Given the description of an element on the screen output the (x, y) to click on. 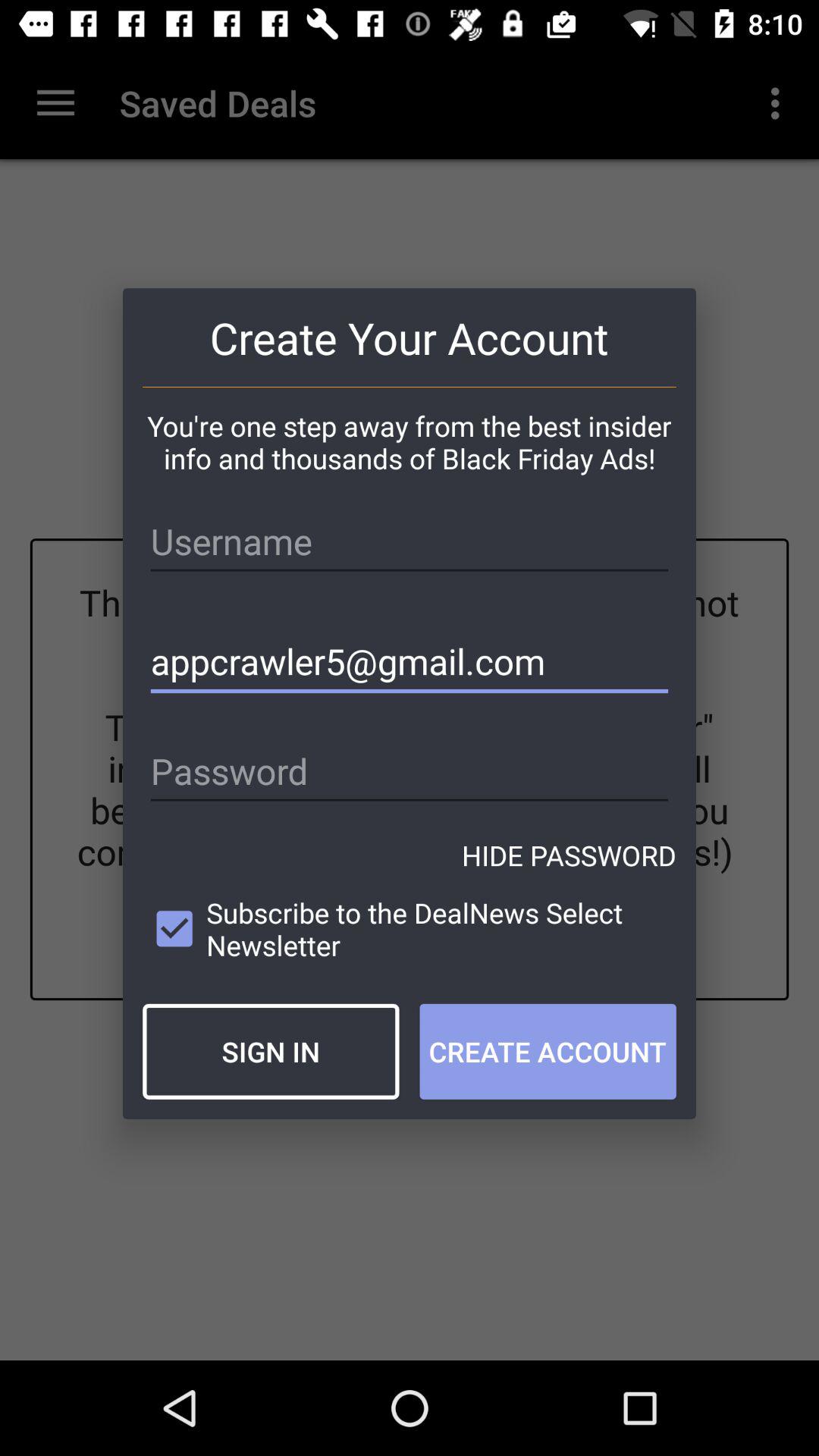
scroll until subscribe to the (409, 929)
